Given the description of an element on the screen output the (x, y) to click on. 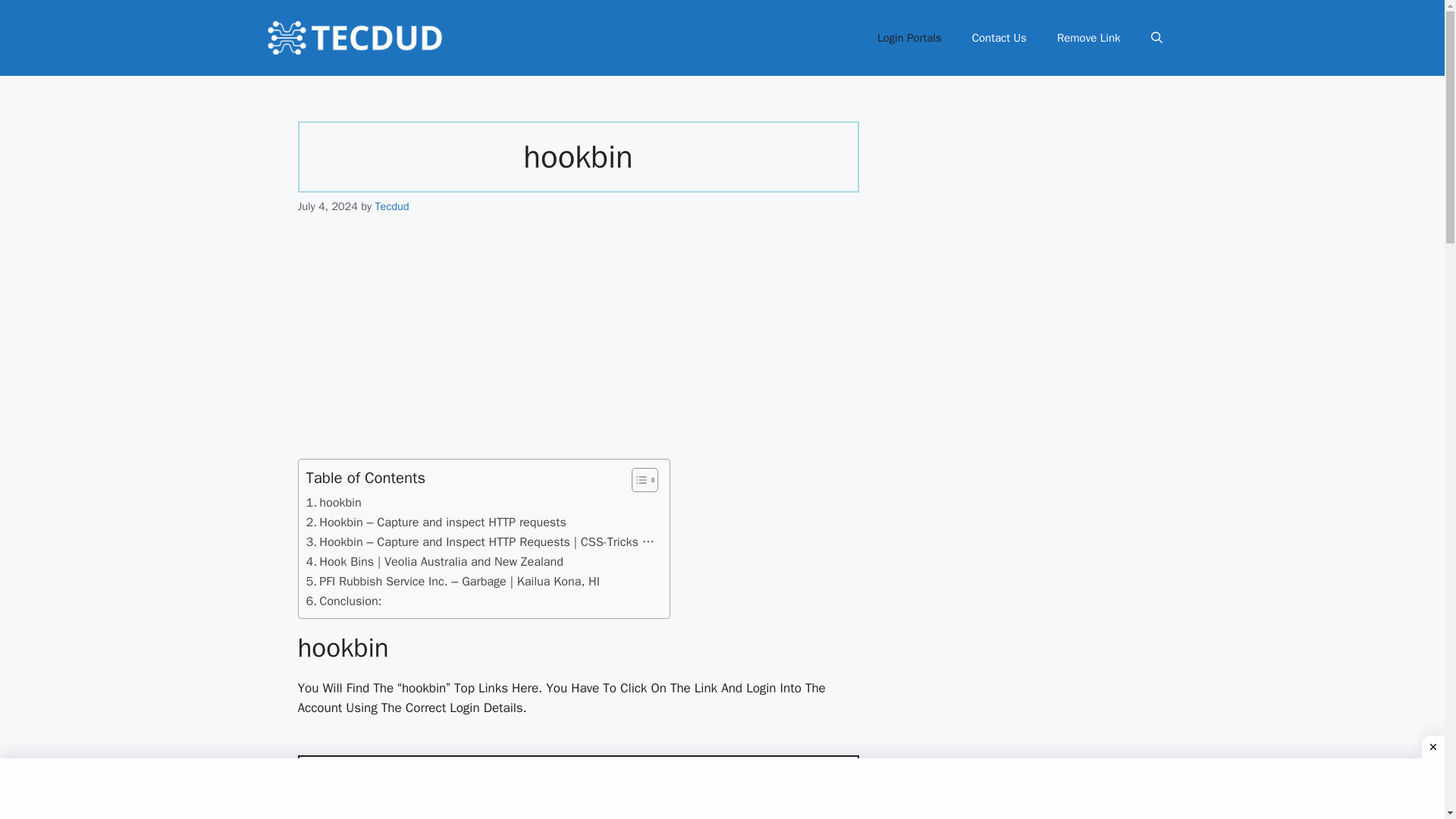
Conclusion: (343, 600)
hookbin (333, 502)
Conclusion: (343, 600)
Tecdud (391, 205)
View all posts by Tecdud (391, 205)
Advertisement (578, 346)
hookbin (333, 502)
Remove Link (1088, 37)
Login Portals (908, 37)
Contact Us (999, 37)
Hookbin - Capture and inspect HTTP requests (577, 795)
